Given the description of an element on the screen output the (x, y) to click on. 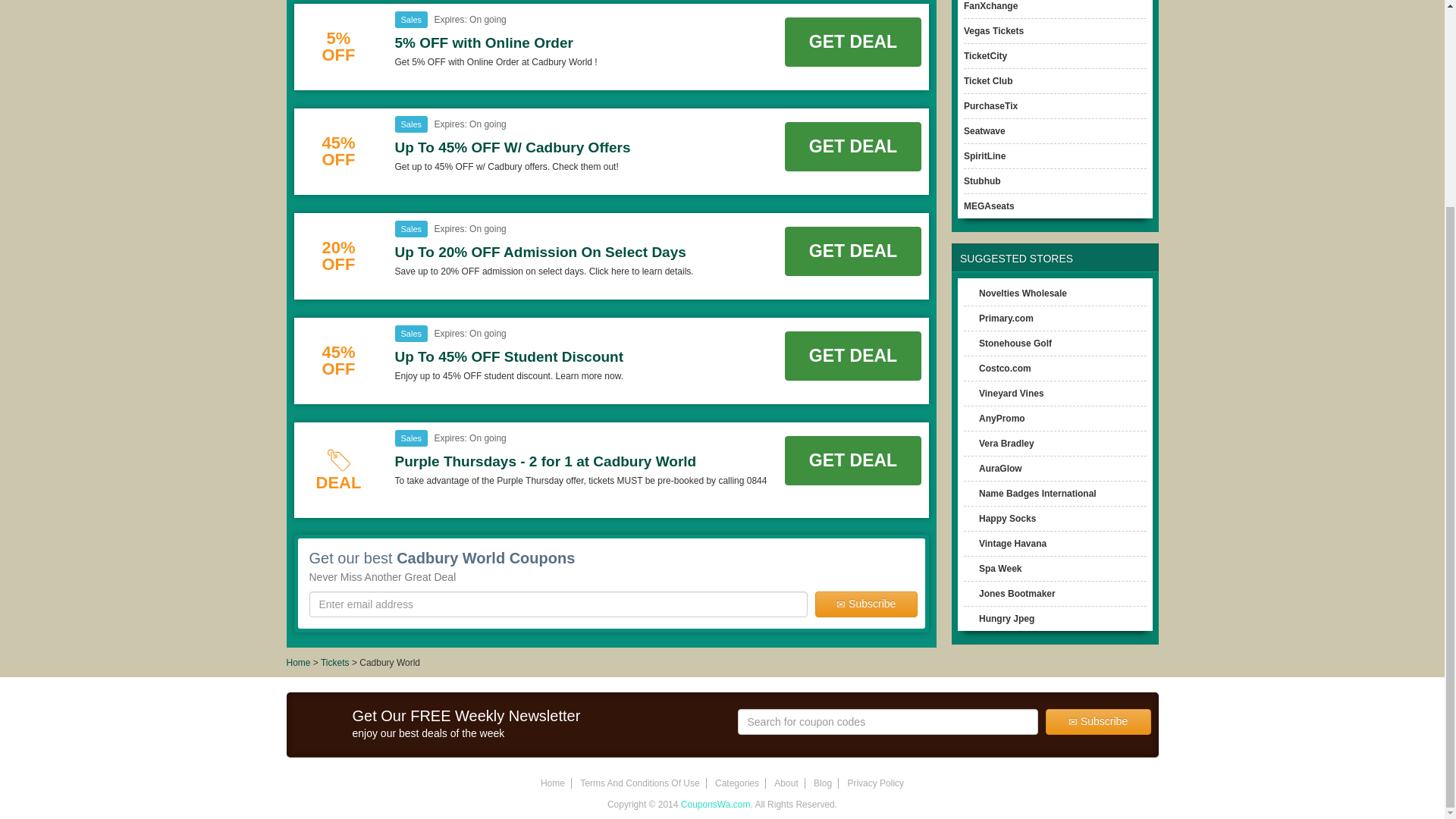
SpiritLine (984, 155)
PurchaseTix (990, 105)
Seatwave (984, 131)
Stubhub (982, 181)
FanXchange (990, 5)
TicketCity (985, 55)
Vegas Tickets (993, 30)
Ticket Club (987, 81)
